Given the description of an element on the screen output the (x, y) to click on. 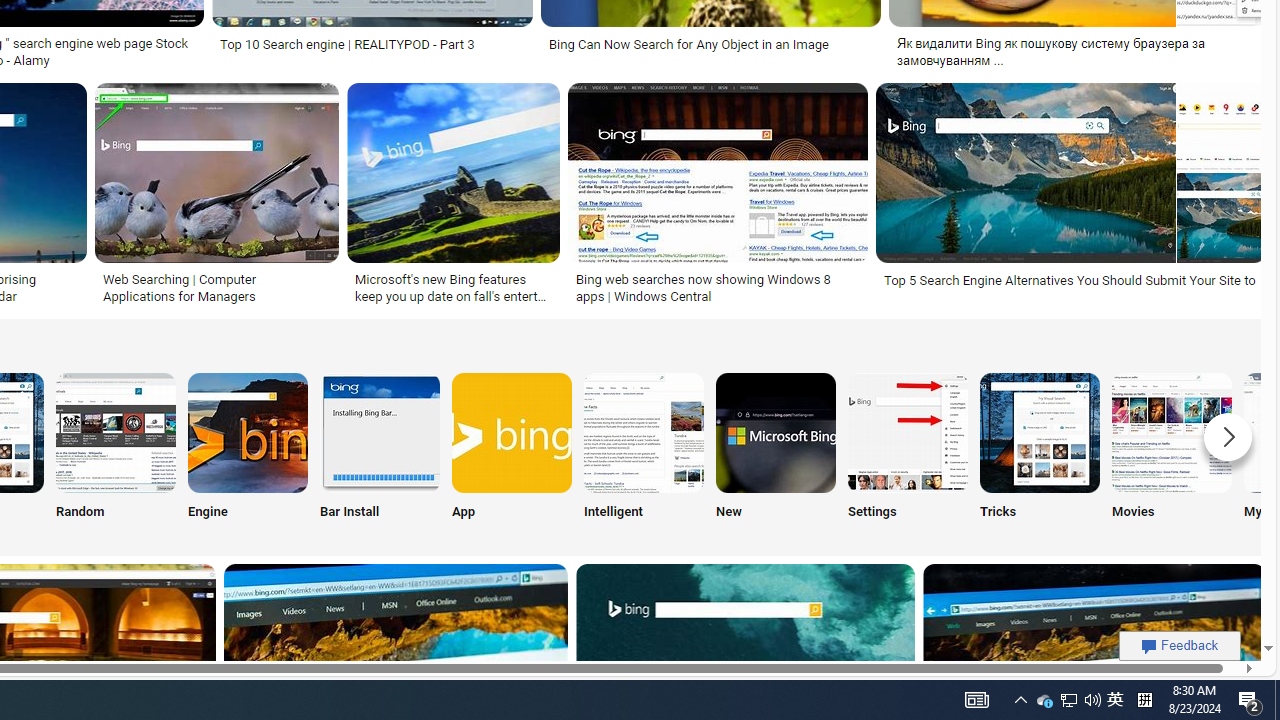
Image result for Bing Search Site (717, 172)
Bing Movies Search (1171, 432)
Web Searching | Computer Applications for Managers (216, 287)
Bing Can Now Search for Any Object in an Image (710, 44)
Bing Intelligent Search Intelligent (643, 450)
Bing Search Bar Install (380, 432)
New Bing Image Search (775, 432)
